Given the description of an element on the screen output the (x, y) to click on. 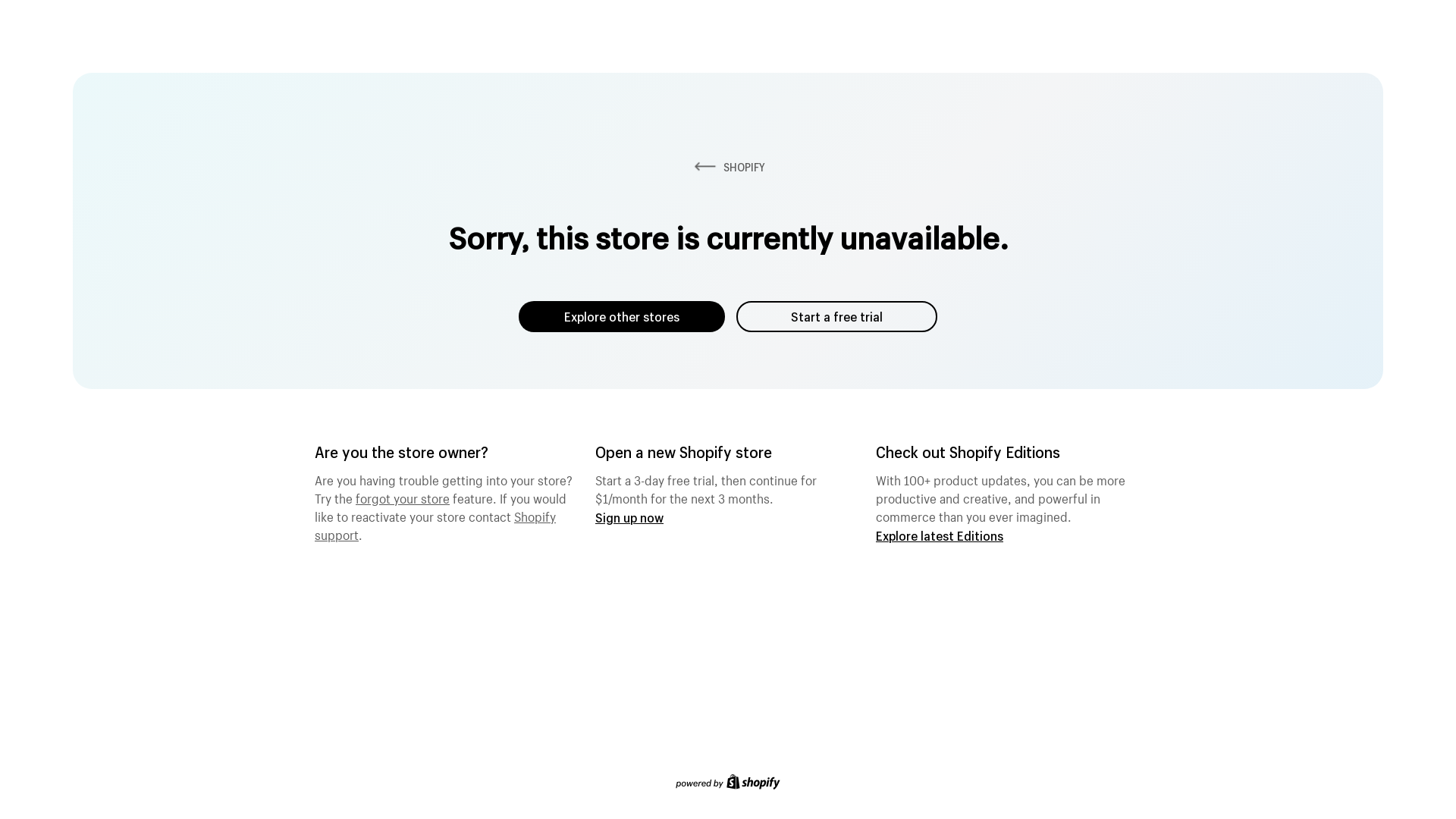
SHOPIFY Element type: text (727, 167)
Start a free trial Element type: text (836, 316)
forgot your store Element type: text (402, 496)
Explore latest Editions Element type: text (939, 535)
Shopify support Element type: text (434, 523)
Sign up now Element type: text (629, 517)
Explore other stores Element type: text (621, 316)
